Given the description of an element on the screen output the (x, y) to click on. 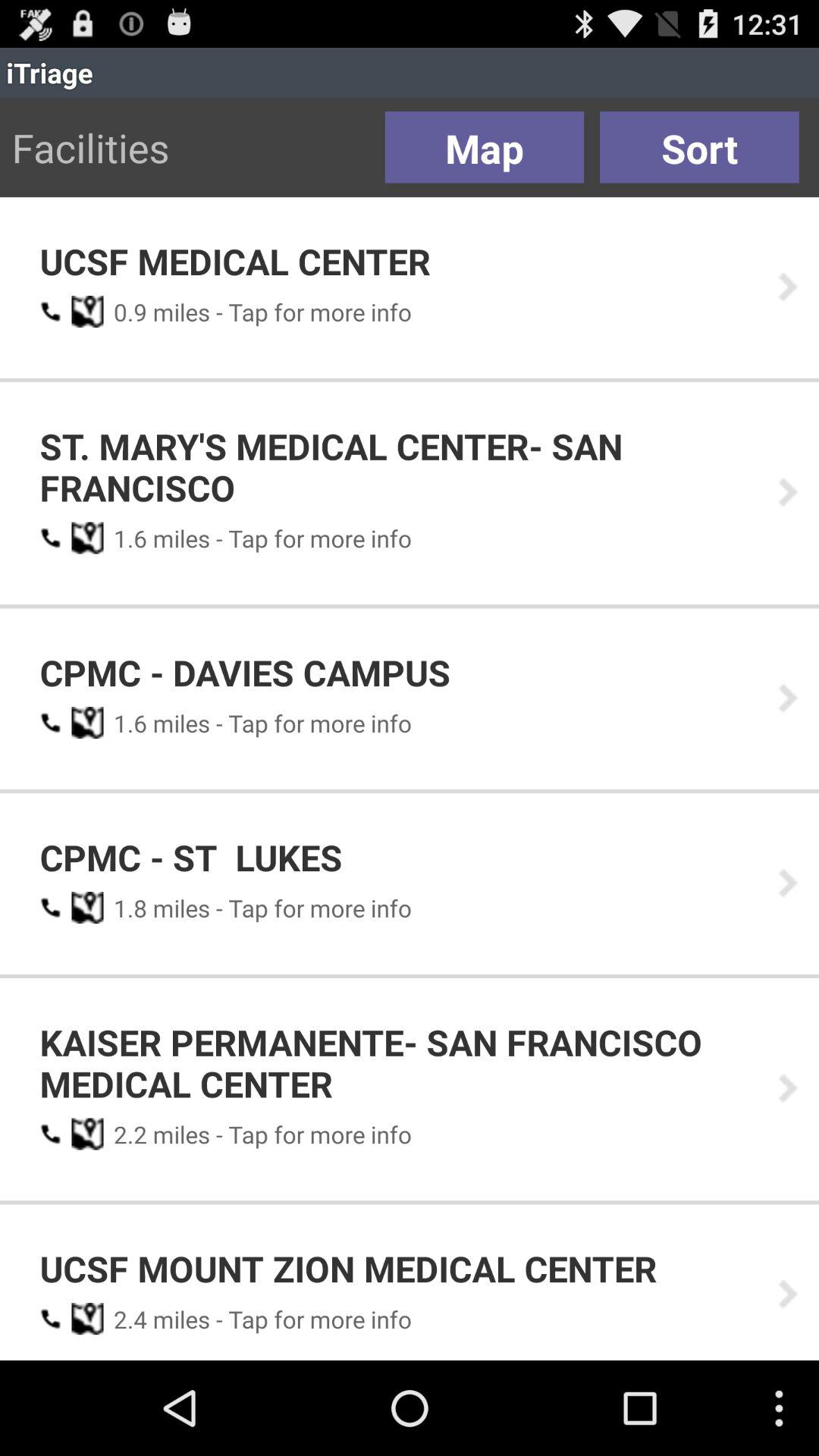
tap the app next to the miles tap for app (125, 311)
